Given the description of an element on the screen output the (x, y) to click on. 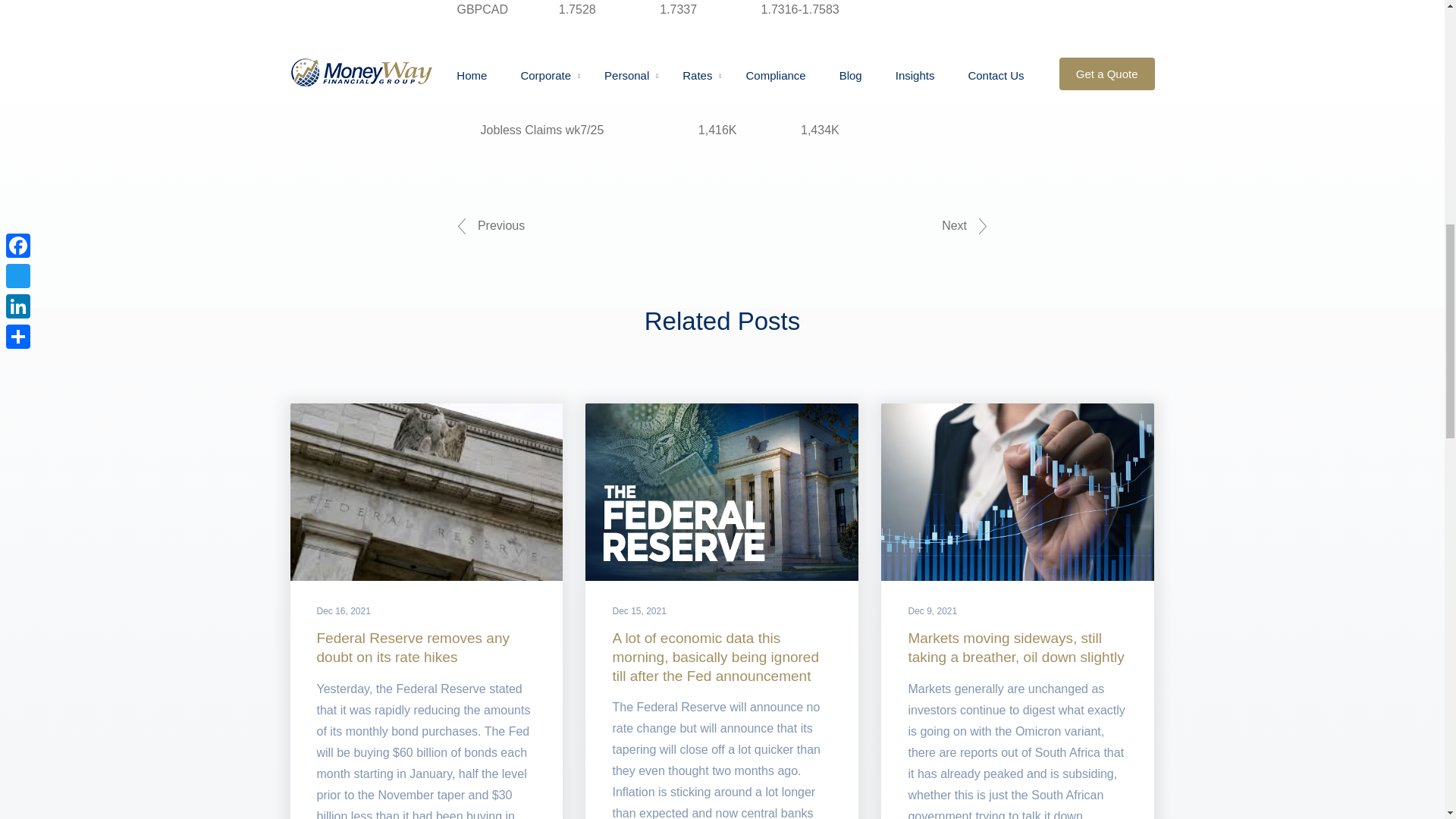
Previous (490, 226)
Federal Reserve removes any doubt on its rate hikes (414, 647)
Next (964, 226)
